Given the description of an element on the screen output the (x, y) to click on. 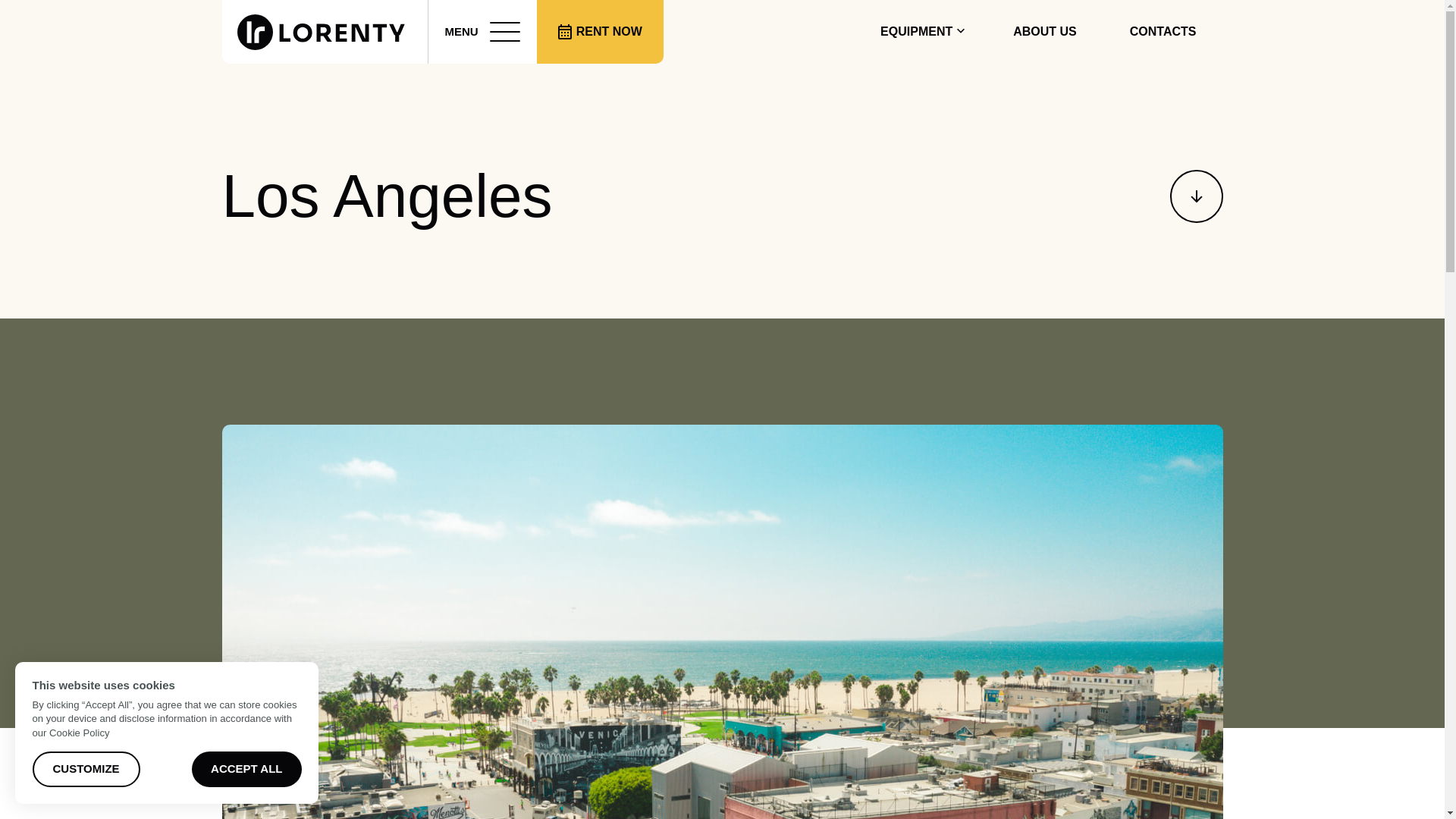
RENT NOW (600, 31)
LORENTY (470, 43)
CONTACTS (1163, 31)
ABOUT US (1044, 31)
Opens a widget where you can chat to one of our agents (1380, 792)
MENU (481, 31)
EQUIPMENT (919, 31)
